Given the description of an element on the screen output the (x, y) to click on. 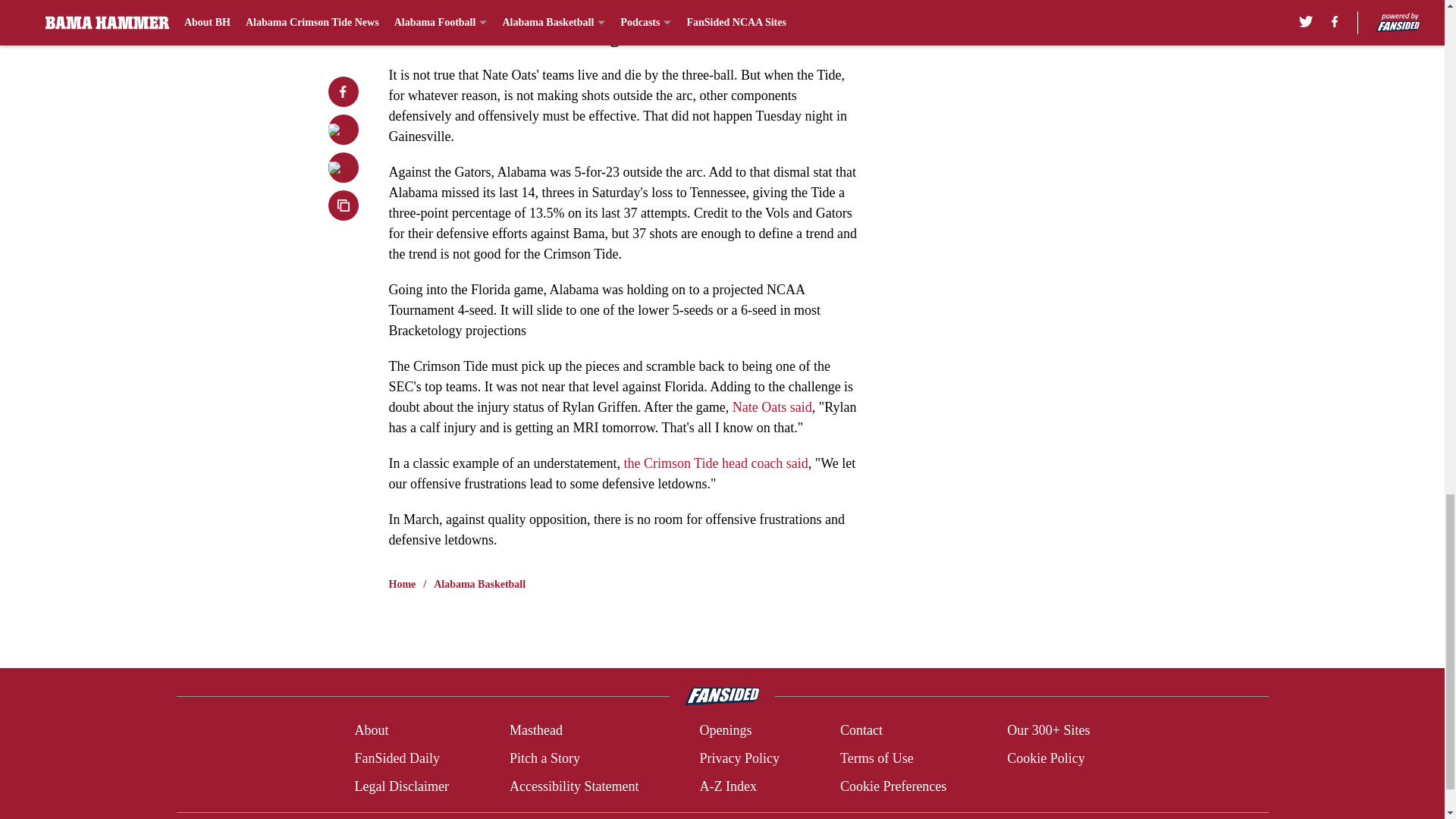
Accessibility Statement (574, 786)
the Crimson Tide head coach said (715, 462)
Openings (724, 730)
Legal Disclaimer (400, 786)
A-Z Index (726, 786)
Cookie Policy (1045, 758)
Nate Oats said (772, 406)
Contact (861, 730)
Home (401, 584)
Pitch a Story (544, 758)
About (370, 730)
FanSided Daily (396, 758)
Terms of Use (877, 758)
Privacy Policy (738, 758)
Masthead (535, 730)
